Given the description of an element on the screen output the (x, y) to click on. 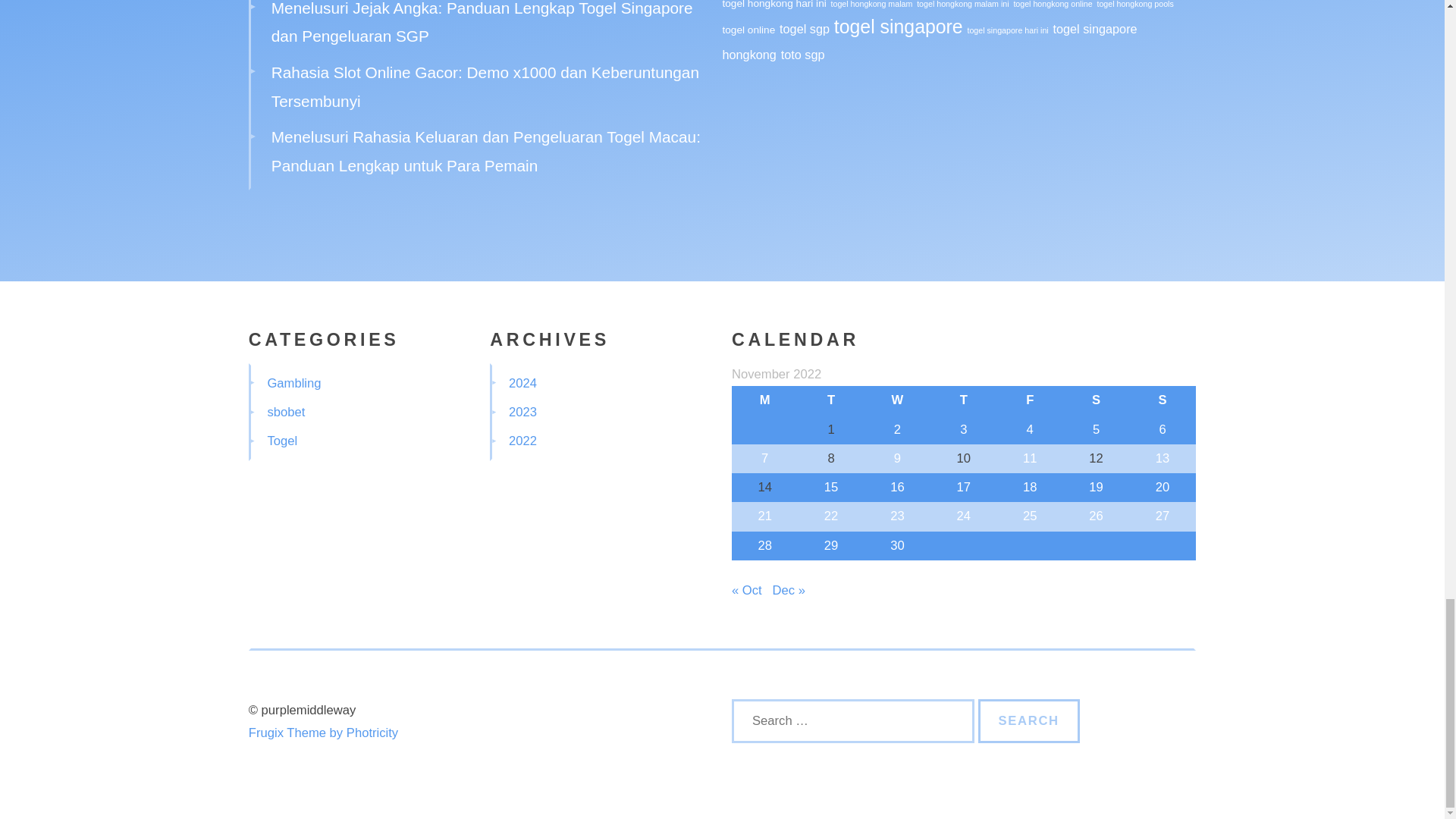
Monday (764, 399)
Search (1029, 720)
Friday (1029, 399)
Tuesday (830, 399)
Saturday (1095, 399)
Thursday (962, 399)
Wednesday (897, 399)
Sunday (1162, 399)
Search (1029, 720)
